Given the description of an element on the screen output the (x, y) to click on. 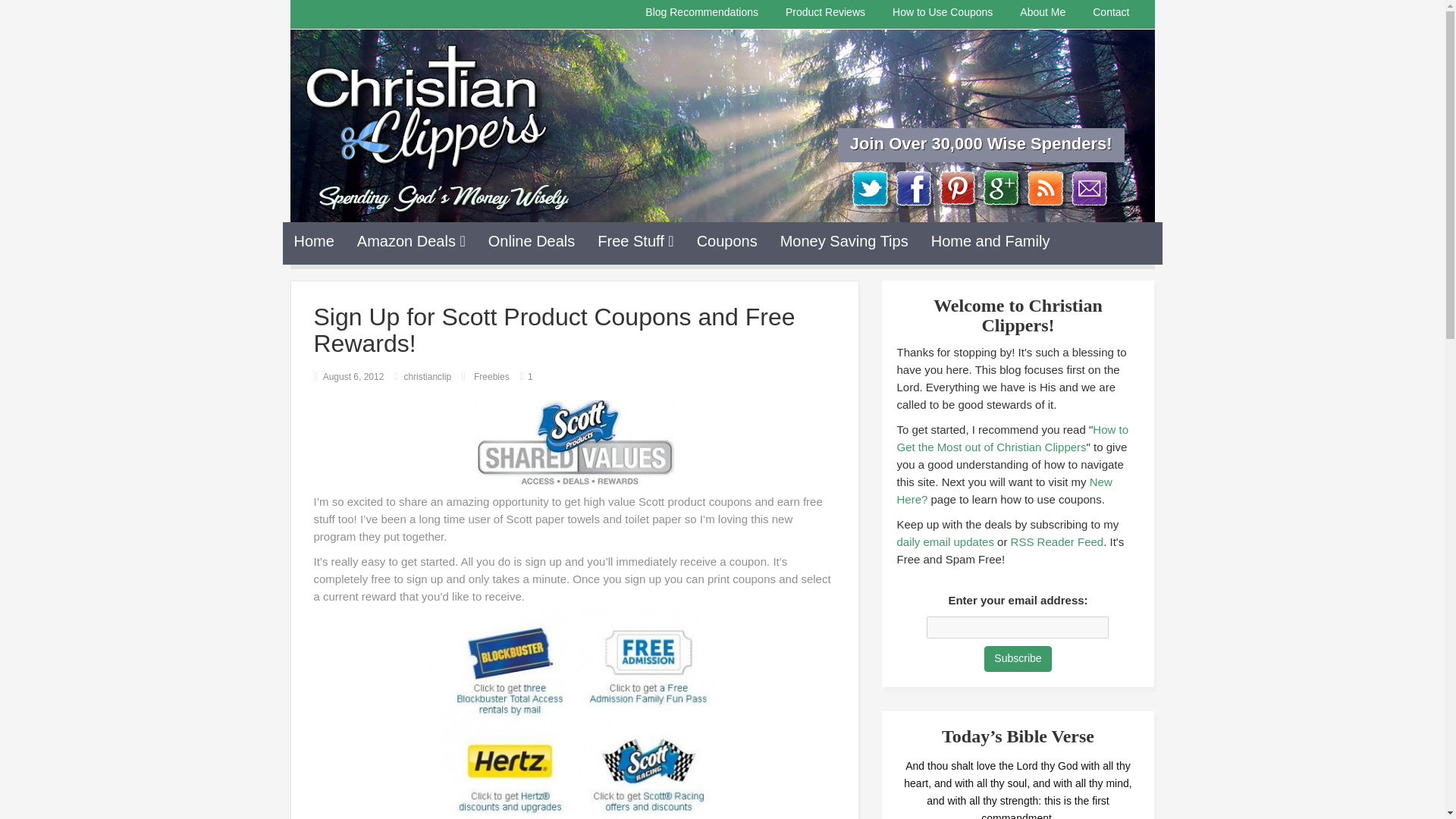
How to Use Coupons (942, 12)
Amazon Deals (411, 240)
Home (313, 240)
Coupons (726, 240)
Online Deals (531, 240)
Money Saving Tips (844, 240)
Contact (1110, 12)
Blog Recommendations (701, 12)
Home and Family (990, 240)
Subscribe (1017, 658)
Product Reviews (825, 12)
Free Stuff (635, 240)
About Me (1043, 12)
